Given the description of an element on the screen output the (x, y) to click on. 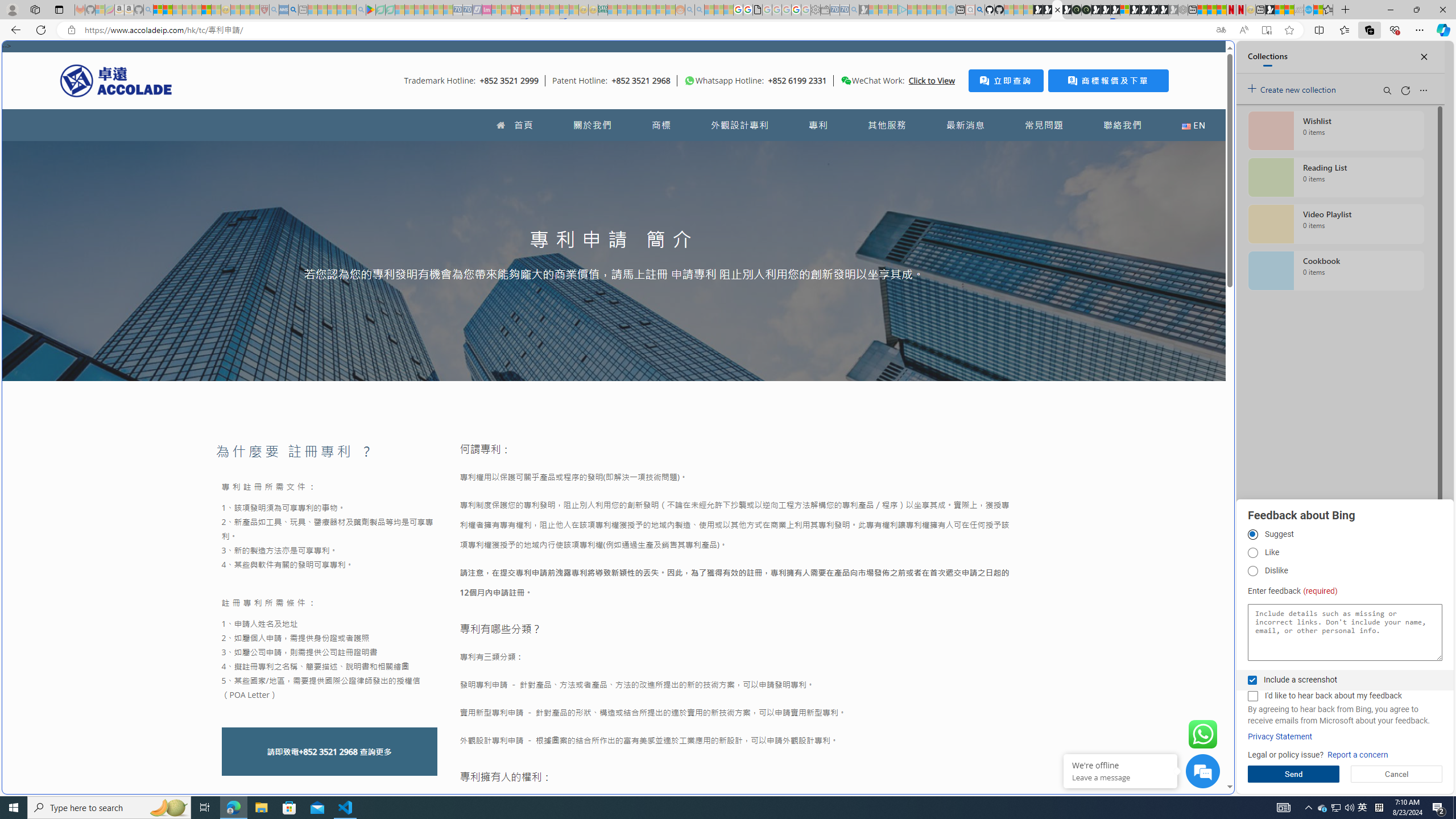
Privacy Statement (1280, 737)
I'd like to hear back about my feedback (1252, 696)
